Given the description of an element on the screen output the (x, y) to click on. 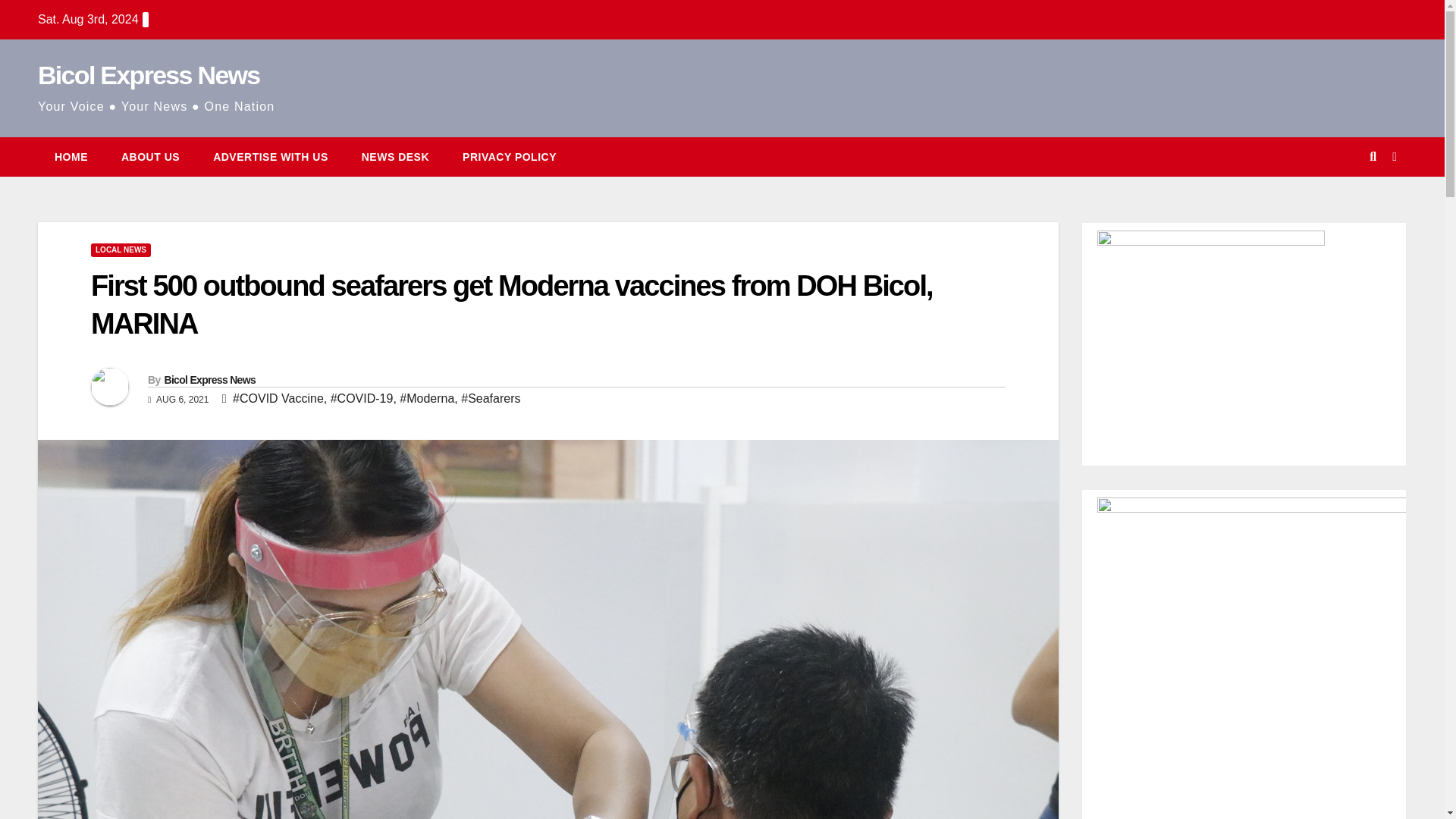
LOCAL NEWS (120, 250)
Bicol Express News (208, 379)
ABOUT US (150, 156)
NEWS DESK (395, 156)
PRIVACY POLICY (509, 156)
Home (70, 156)
Bicol Express News (148, 74)
ADVERTISE WITH US (270, 156)
HOME (70, 156)
